Given the description of an element on the screen output the (x, y) to click on. 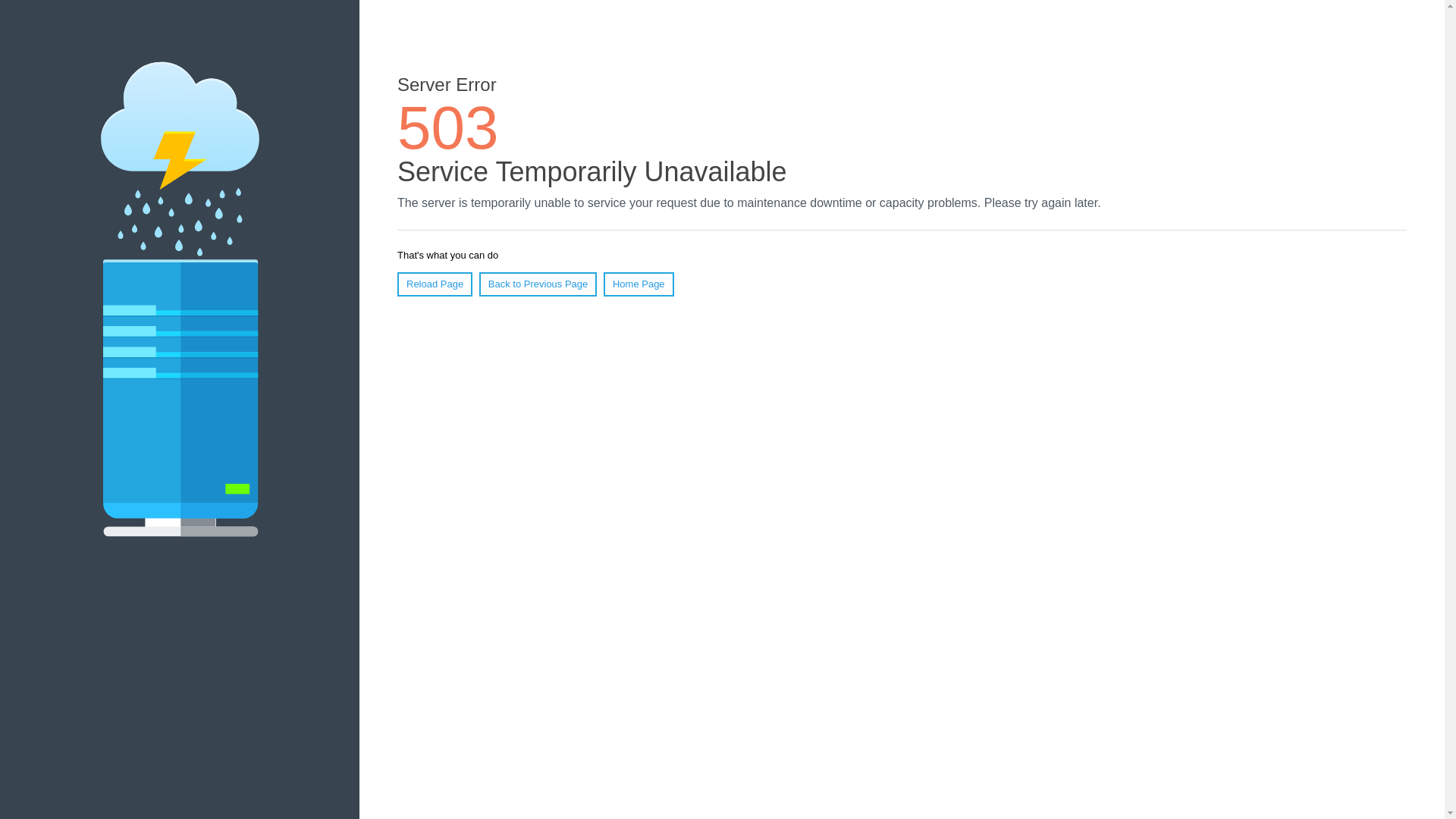
Back to Previous Page Element type: text (538, 284)
Home Page Element type: text (638, 284)
Reload Page Element type: text (434, 284)
